Given the description of an element on the screen output the (x, y) to click on. 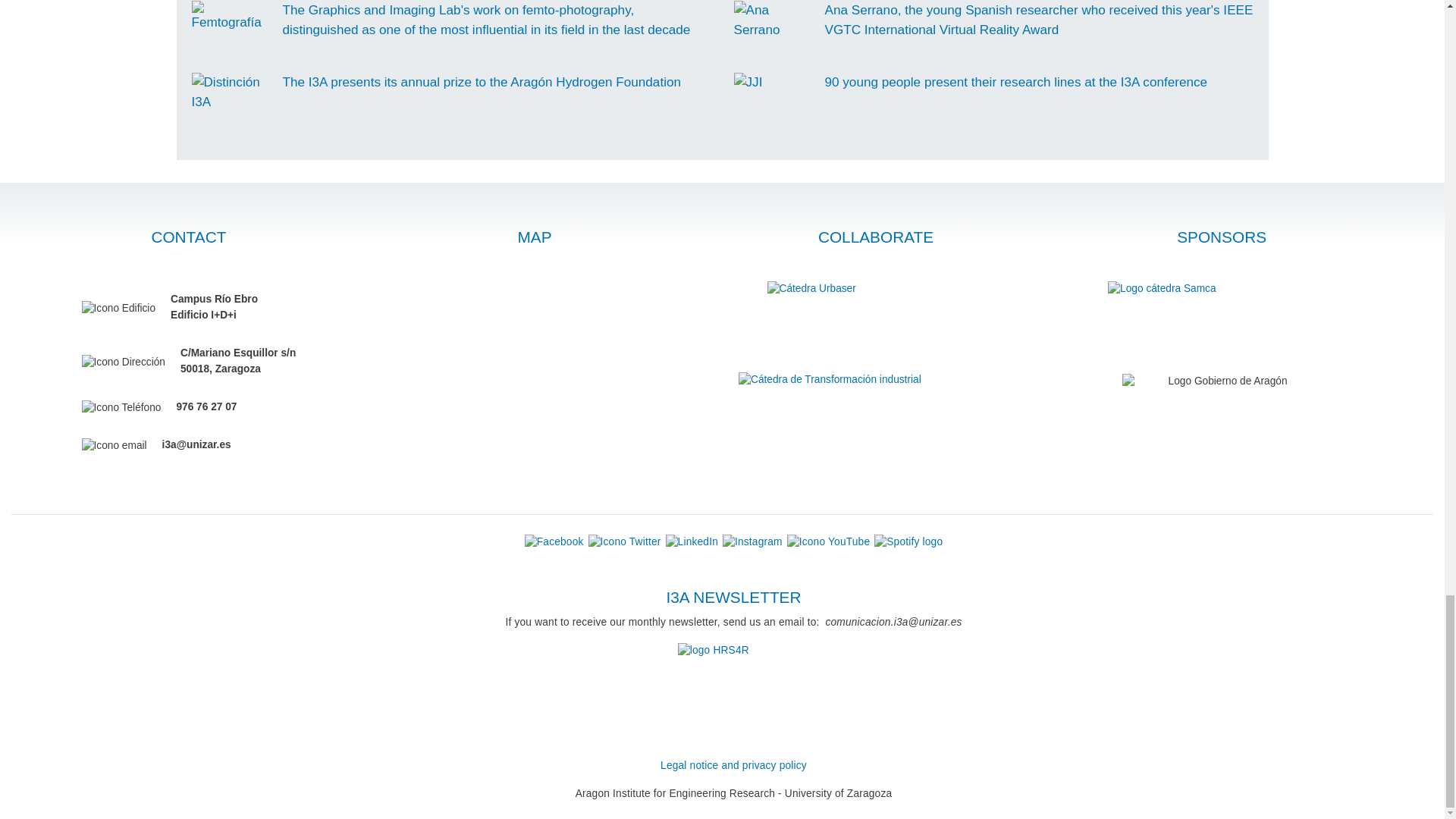
Instagram (752, 541)
Instagram (752, 542)
Twitter (624, 541)
Email (114, 446)
YouTube (828, 542)
Edificio (118, 308)
Facebook (553, 541)
Facebook (553, 542)
Spotify (908, 541)
LinkedIn (691, 542)
